Given the description of an element on the screen output the (x, y) to click on. 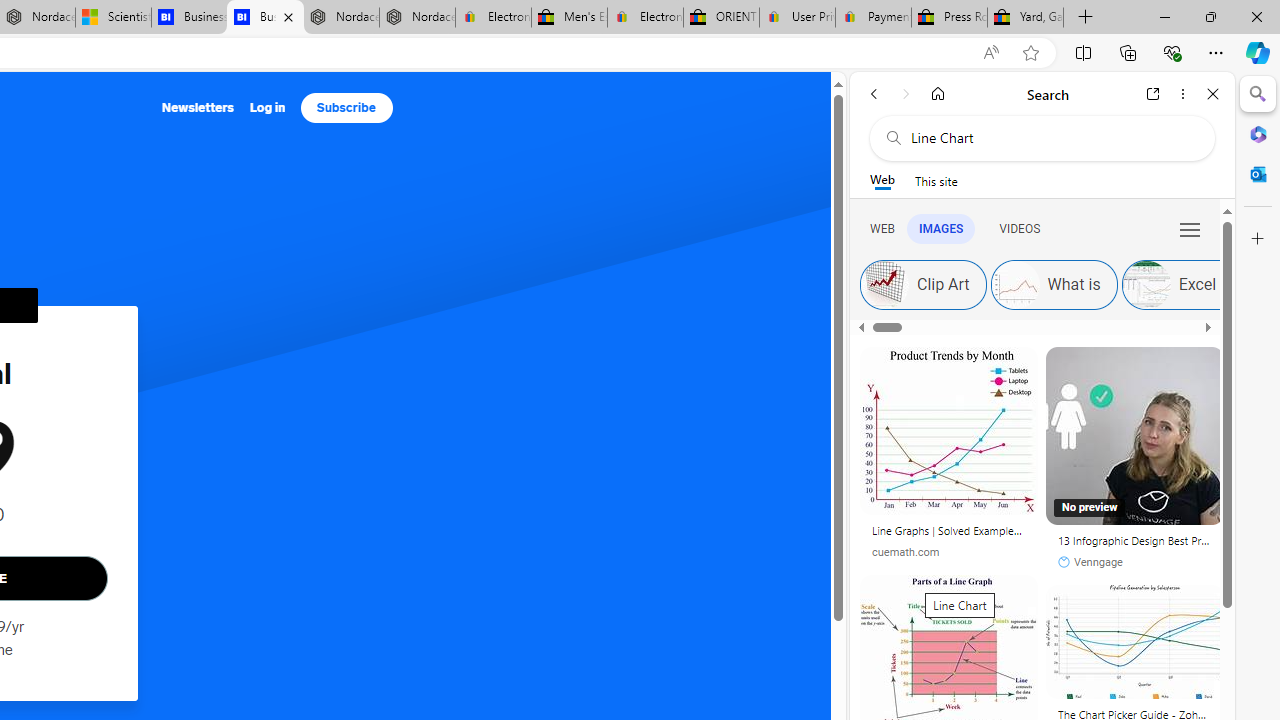
Yard, Garden & Outdoor Living (1025, 17)
13 Infographic Design Best Practices - Venngage (1135, 540)
Nordace - Summer Adventures 2024 (340, 17)
13 Infographic Design Best Practices - Venngage (1135, 543)
Image result for Line Chart (1134, 641)
Search Filter, VIDEOS (1019, 228)
What is (1014, 284)
Excel Simple (1146, 284)
